Given the description of an element on the screen output the (x, y) to click on. 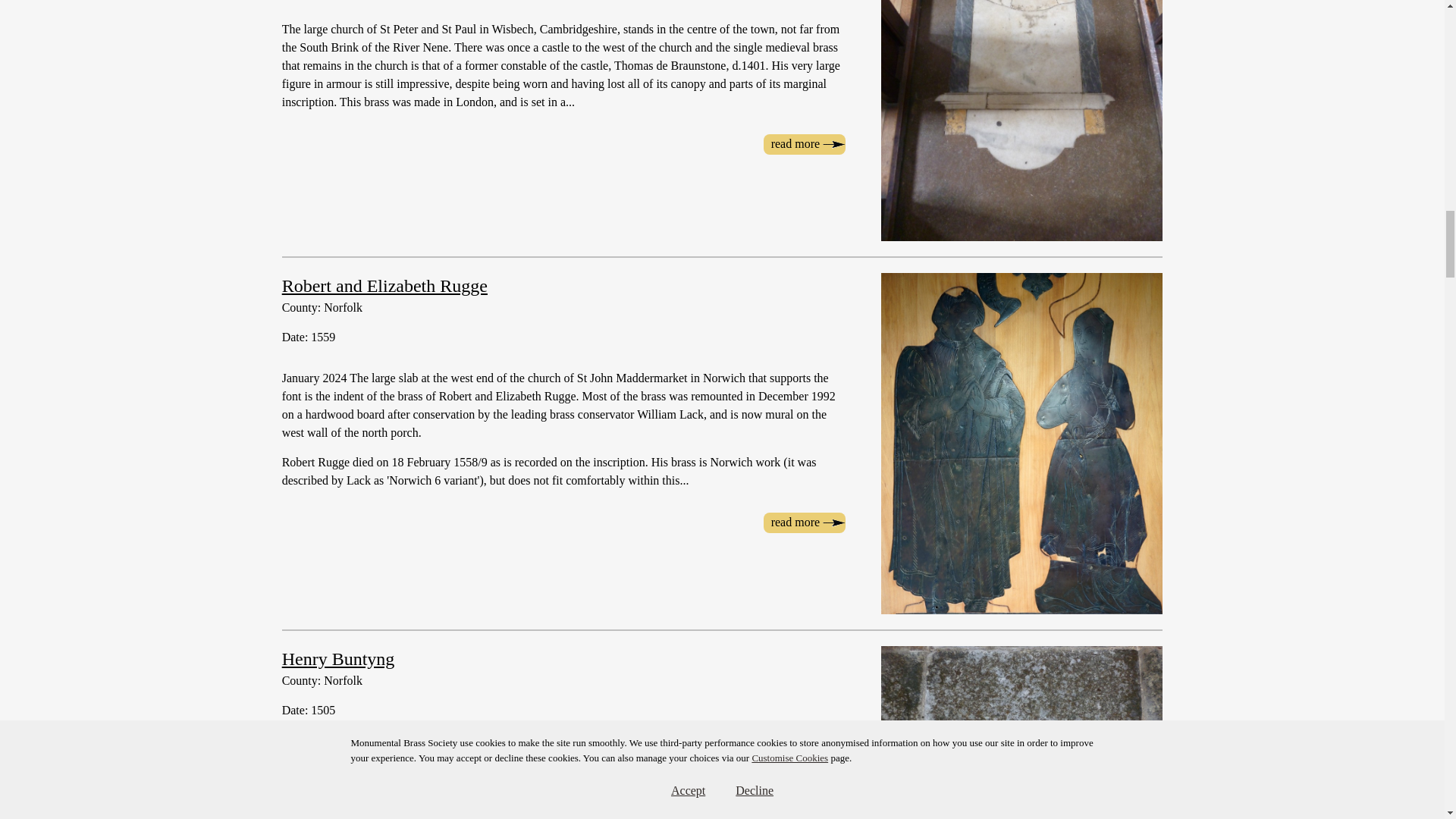
Anonymous appropriated indents (803, 144)
Robert and Elizabeth Rugge (384, 285)
